Given the description of an element on the screen output the (x, y) to click on. 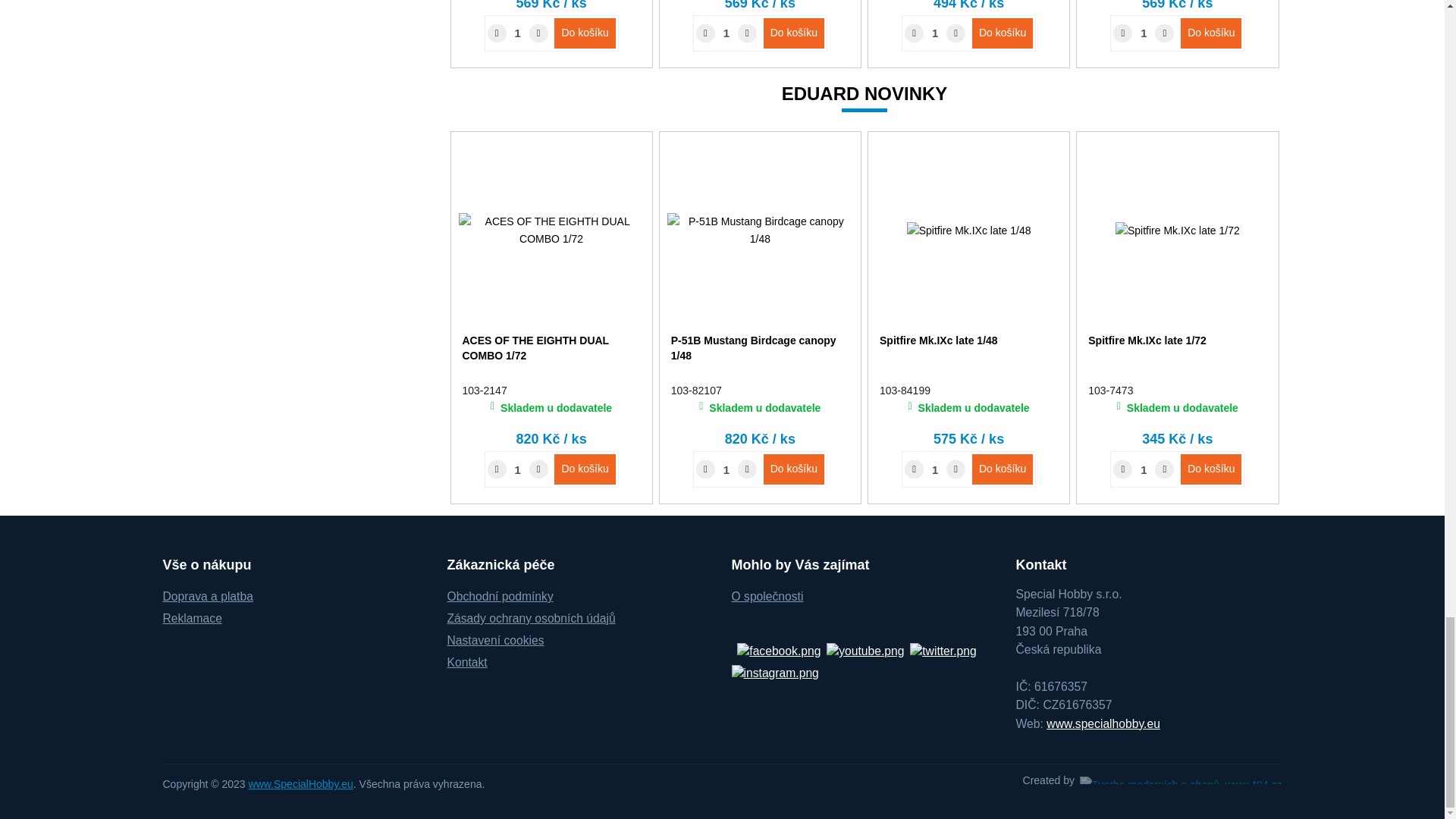
Facebook (778, 649)
